Given the description of an element on the screen output the (x, y) to click on. 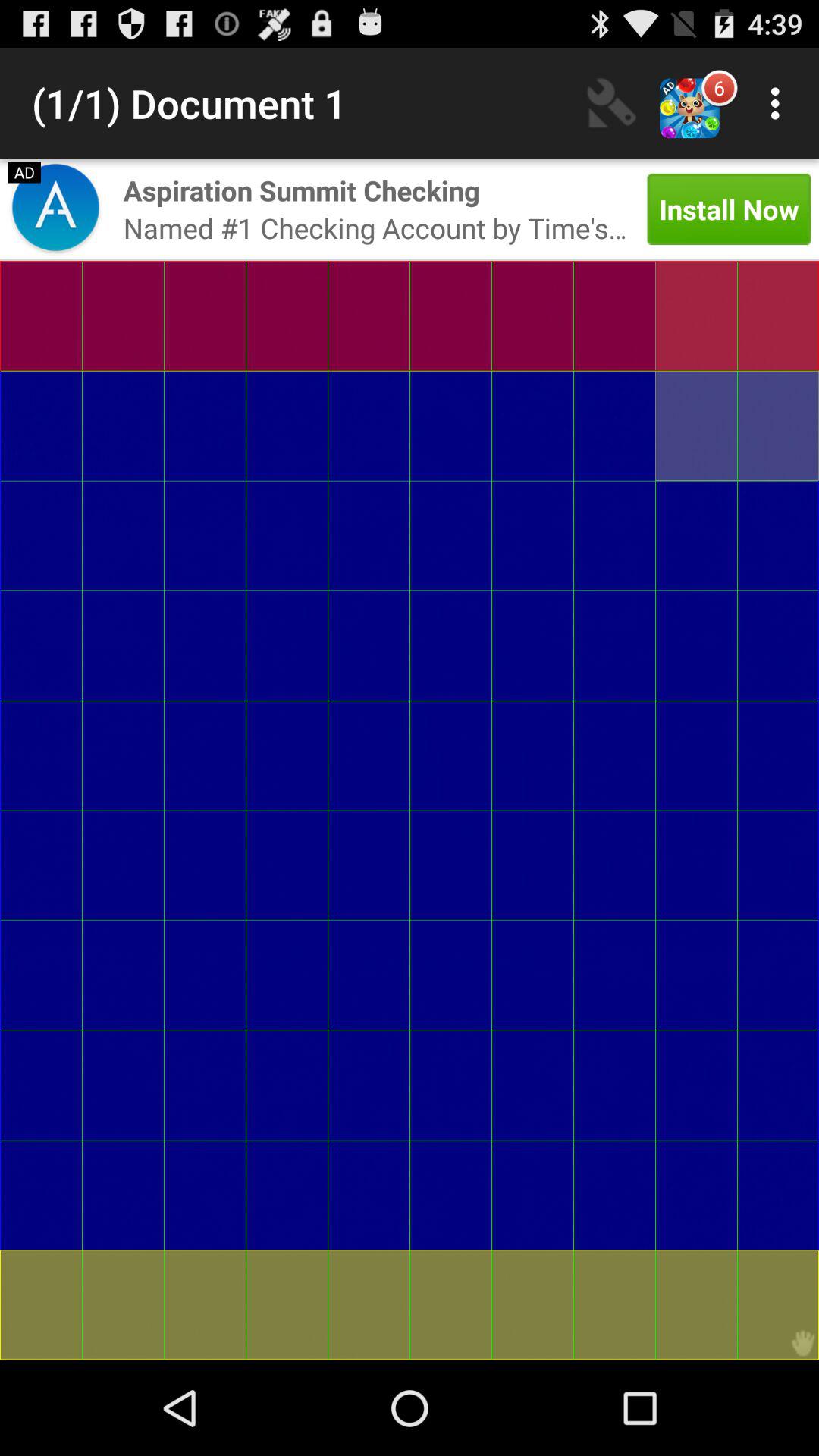
scroll to install now item (729, 209)
